Given the description of an element on the screen output the (x, y) to click on. 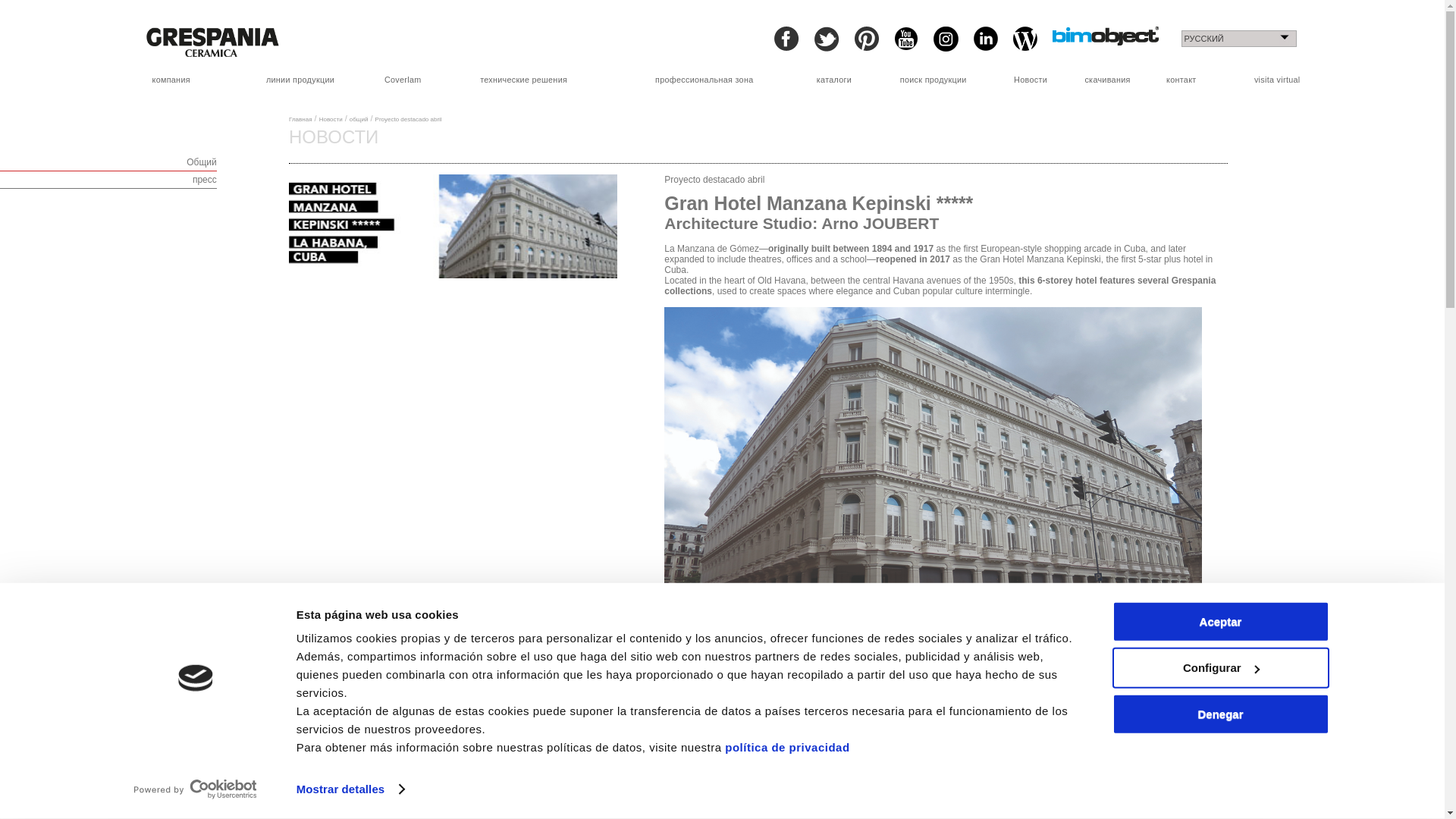
wordpress (1024, 38)
twitter (826, 38)
linkedin (985, 38)
Mostrar detalles (350, 789)
bimobject (1105, 35)
pinterest (865, 38)
youtube (905, 38)
instagram (945, 38)
